Given the description of an element on the screen output the (x, y) to click on. 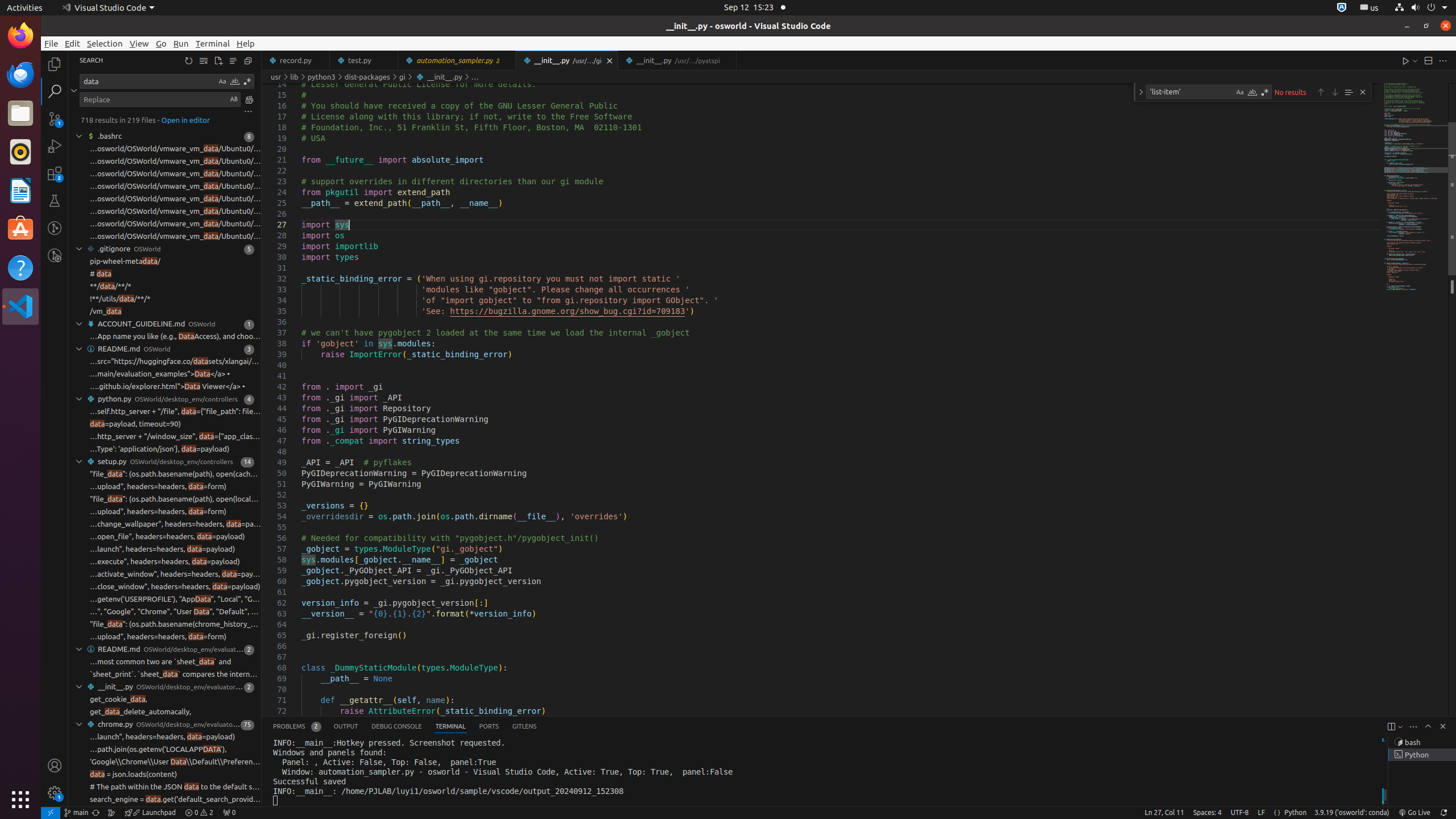
' response = requests.post(self.http_server + "/file", data={"file_path": file_path})' at column 70 found data Element type: tree-item (164, 411)
 Element type: push-button (248, 111)
Open in editor Element type: link (184, 119)
75 matches in file chrome.py of folder OSWorld/desktop_env/evaluators/getters, Search result Element type: tree-item (164, 723)
'alias vmbash='function _vmbash() { vmrun -T ws -gu user -gp password runScriptInGuest /home/PJLAB/luyi1/osworld/OSWorld/vmware_vm_data/Ubuntu0/Ubuntu0.vmx "/bin/bash" "$1 > /home/user/vm.log 2>&1" && vmrun -gu user -gp password copyFileFromGuestToHost /home/PJLAB/luyi1/osworld/OSWorld/vmware_vm_data/Ubuntu0/Ubuntu0.vmx /home/user/vm.log vm.log; }; _vmbash' vmrun -T ws -gu user -gp password runScriptInGuest /home/PJLAB/luyi1/osworld/OSWorld/vmware_vm_data/Ubuntu0/Ubuntu0.vmx "/bin/bash" "ip a > /home/user/vm.log" && vmrun -gu user -gp password copyFileFromGuestToHost /home/PJLAB/luyi1/osworld/OSWorld/vmware_vm_data/Ubuntu0/Ubuntu0.vmx /home/user/vm.log vm.log' at column 618 found data Element type: tree-item (164, 210)
